Given the description of an element on the screen output the (x, y) to click on. 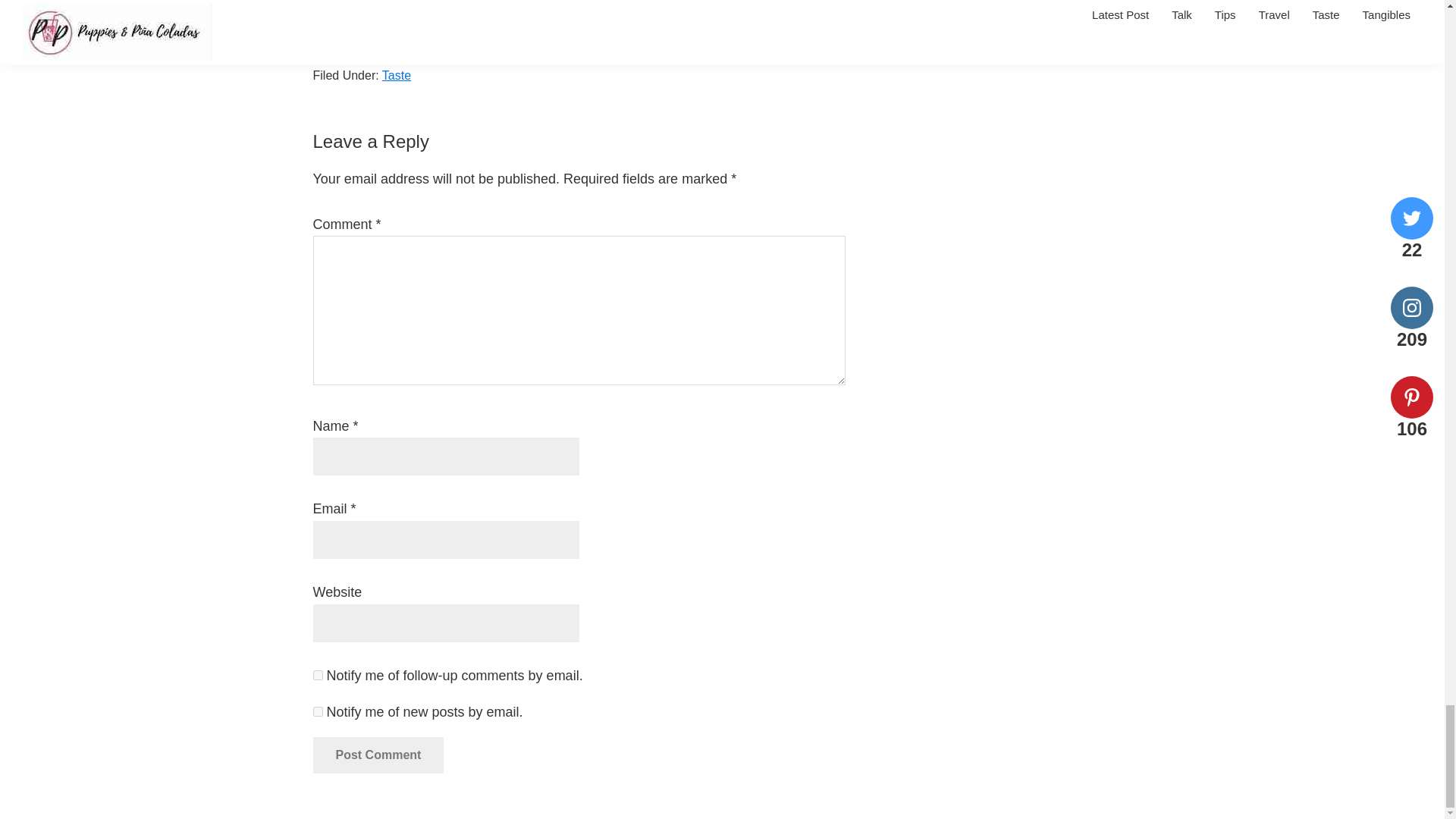
subscribe (317, 675)
subscribe (317, 711)
Post Comment (378, 755)
